Given the description of an element on the screen output the (x, y) to click on. 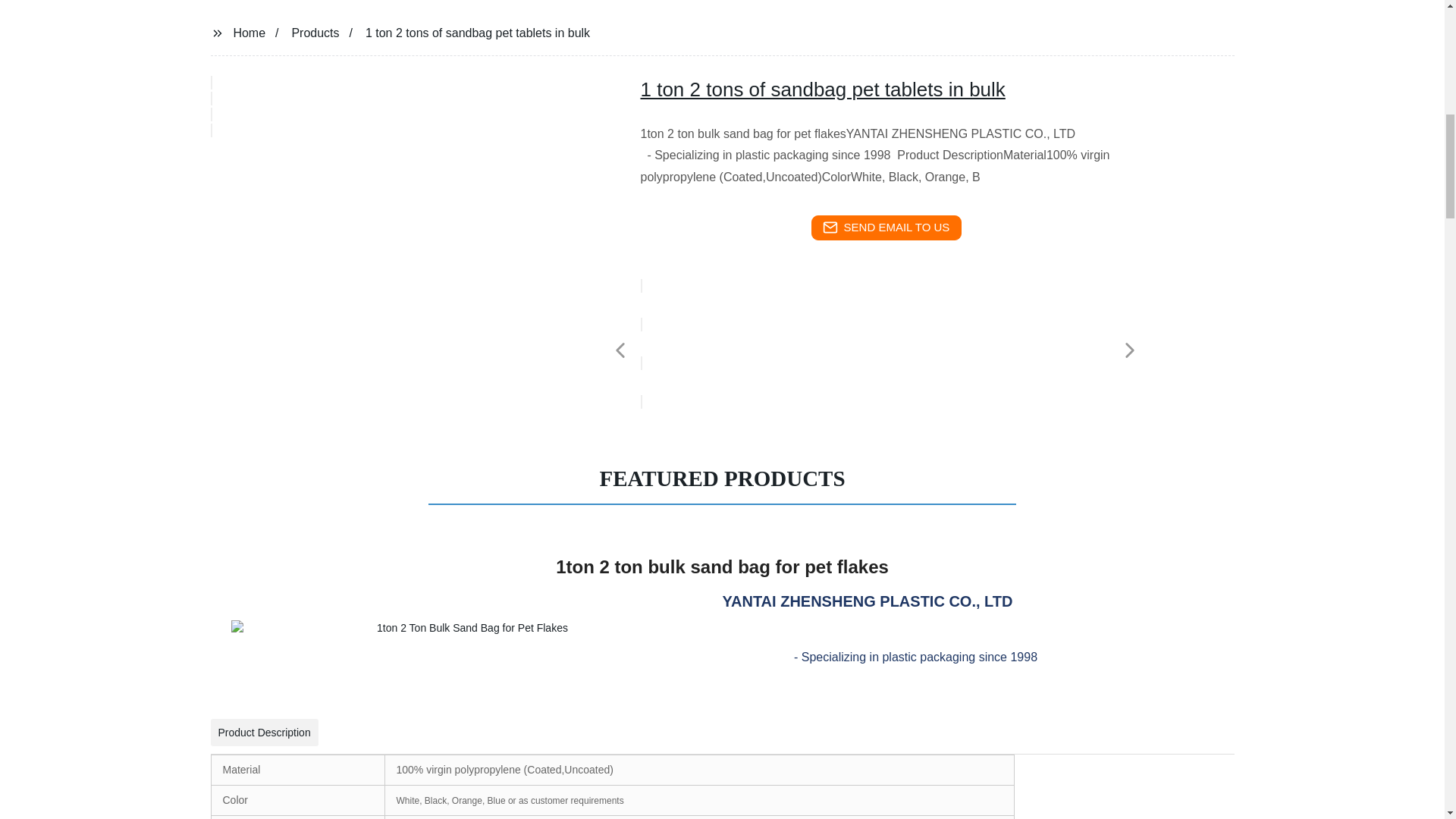
Products (315, 31)
SEND EMAIL TO US (885, 227)
Home (248, 31)
